Given the description of an element on the screen output the (x, y) to click on. 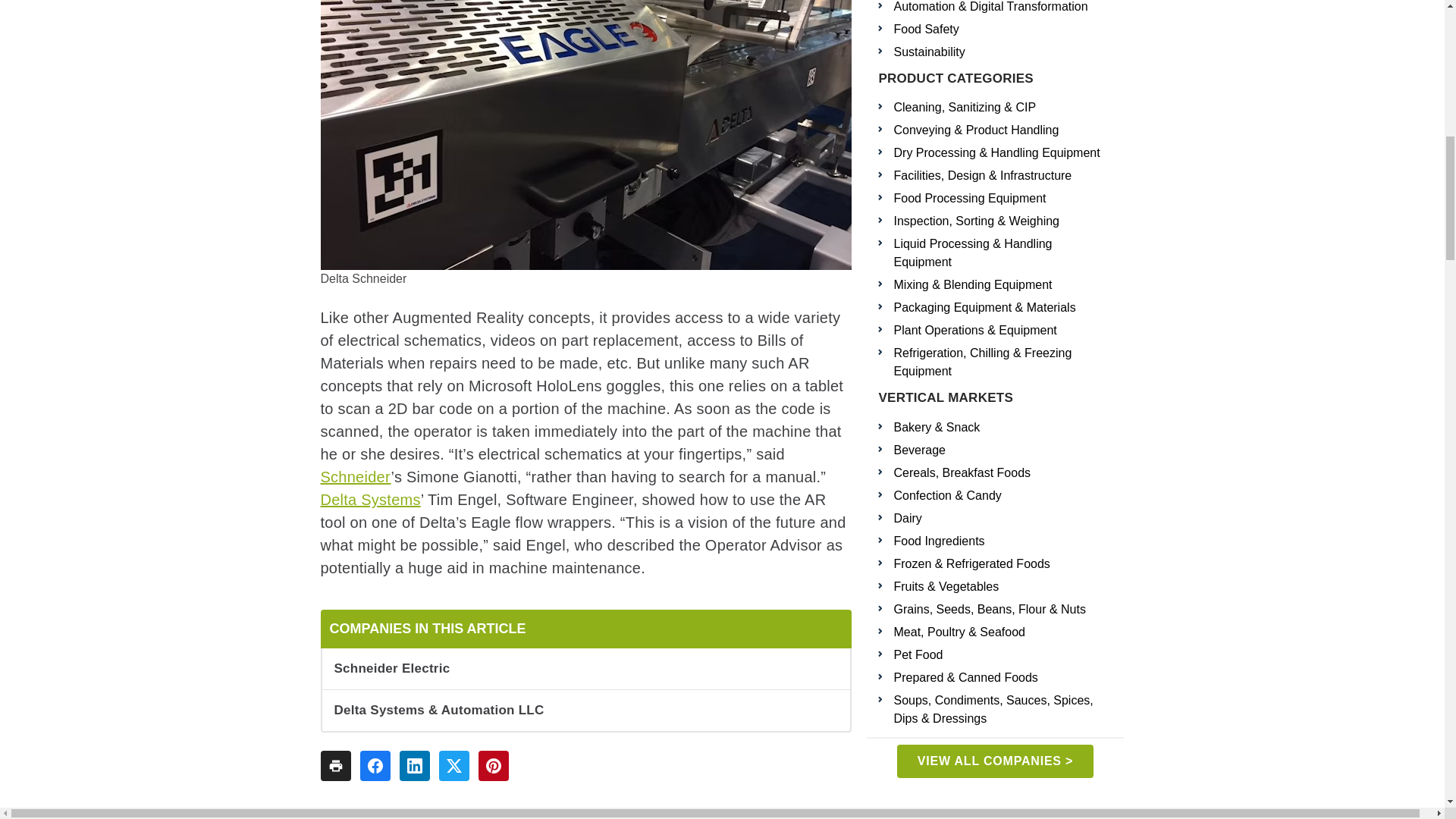
Share To facebook (374, 766)
Share To linkedin (413, 766)
Share To print (335, 766)
Share To twitter (453, 766)
Share To pinterest (492, 766)
